Given the description of an element on the screen output the (x, y) to click on. 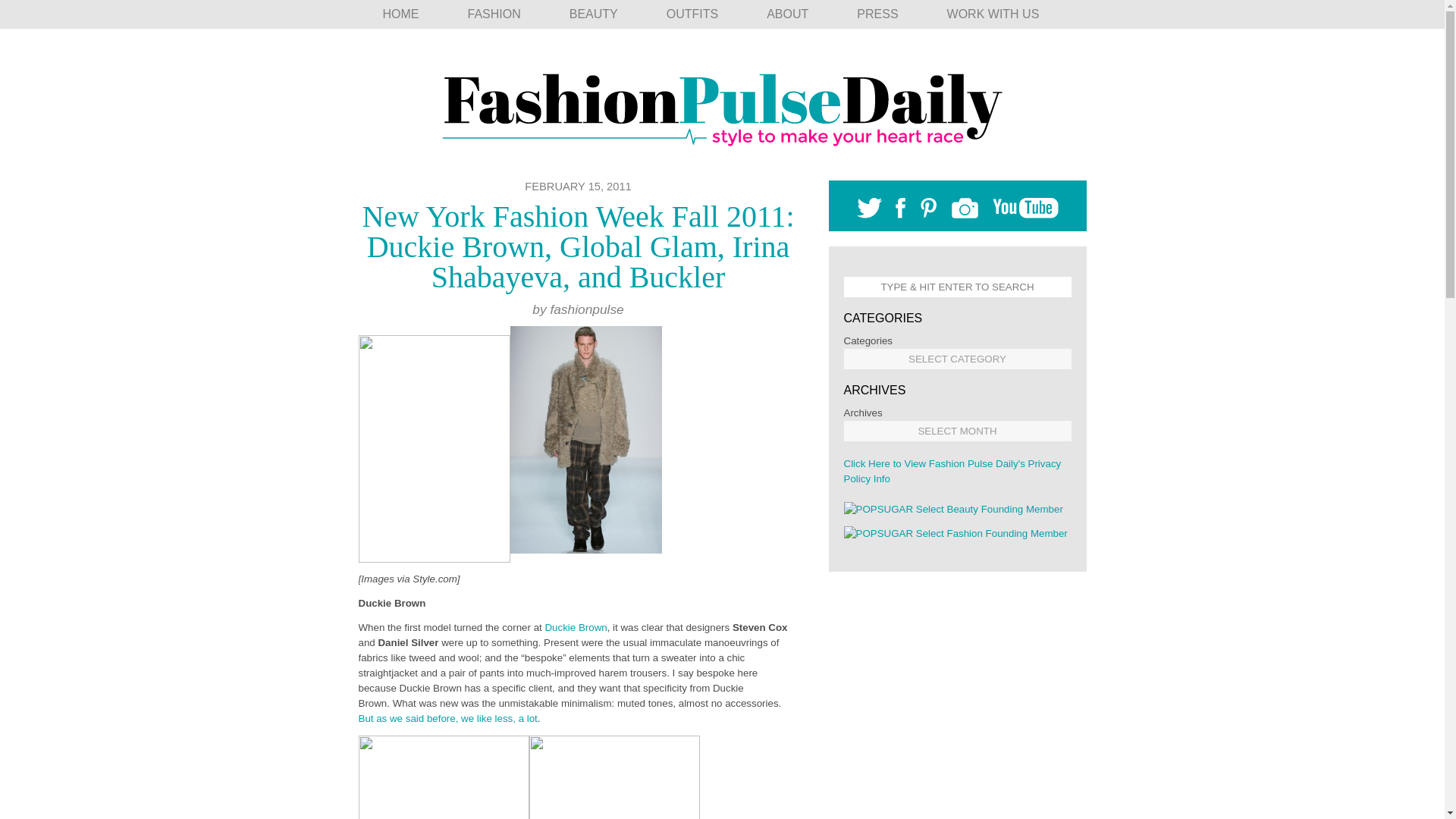
fashionpulse (586, 309)
BEAUTY (593, 13)
PRESS (877, 13)
OUTFITS (691, 13)
ABOUT (787, 13)
Fashion Pulse Daily (722, 104)
But as we said before, we like less, a lot (447, 717)
fashionpulse (586, 309)
Duckie Brown (575, 627)
